Given the description of an element on the screen output the (x, y) to click on. 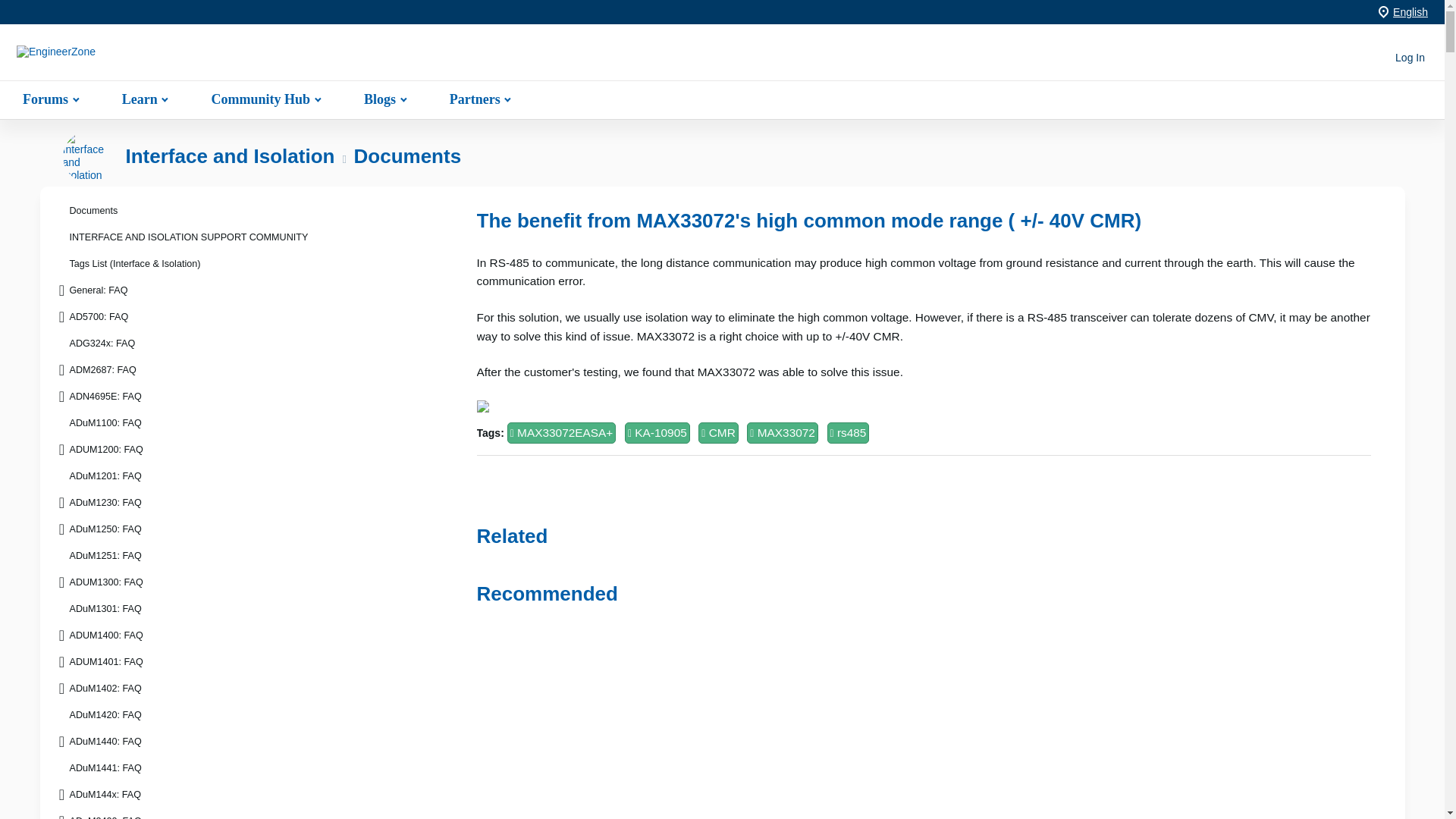
Forums (49, 98)
Log In (1409, 57)
Home (111, 57)
English (1410, 11)
Join or sign in (1409, 57)
